Given the description of an element on the screen output the (x, y) to click on. 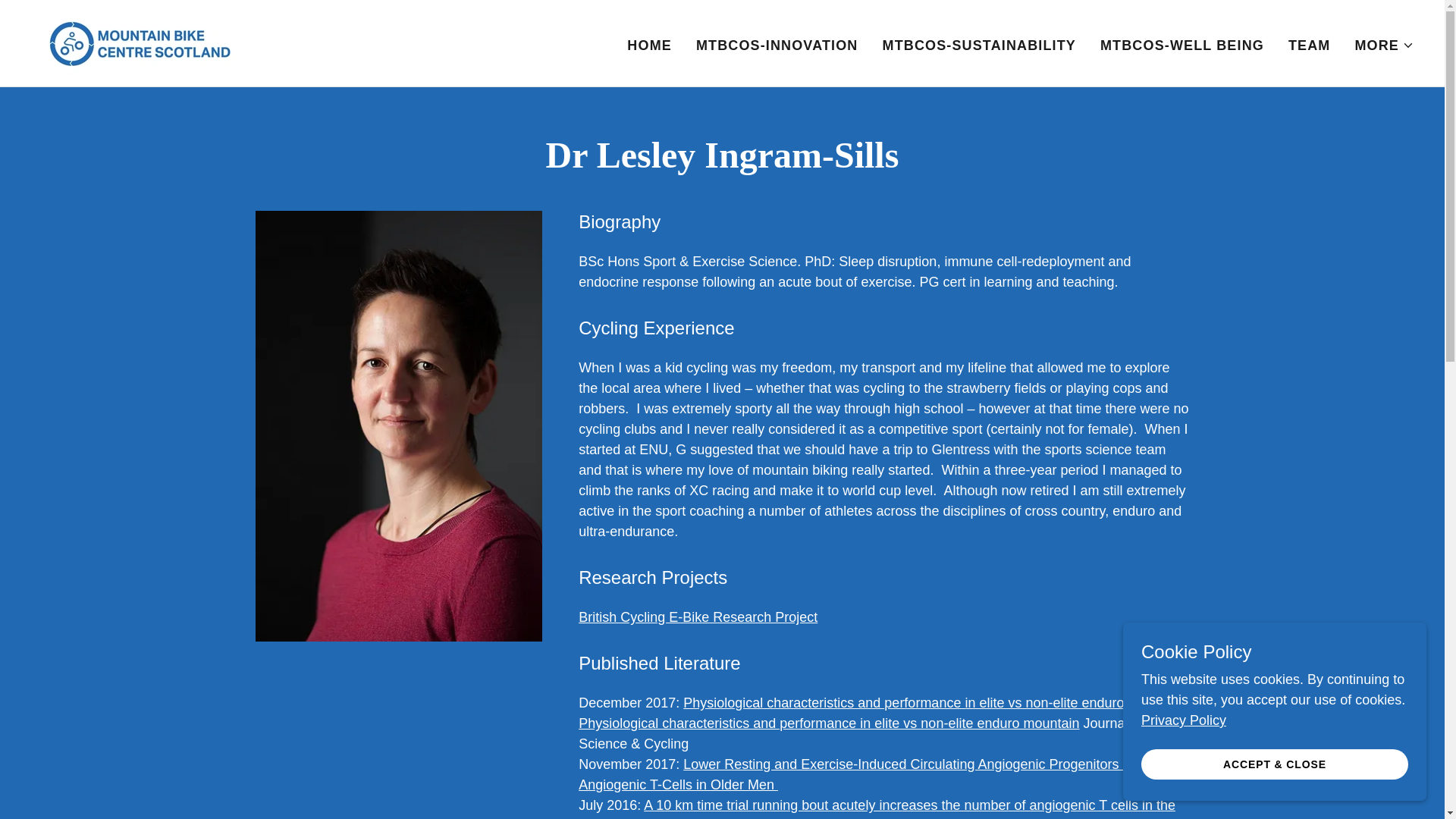
MTBCOS-INNOVATION (138, 42)
MTBCOS-SUSTAINABILITY (777, 44)
MTBCOS-WELL BEING (978, 44)
MORE (1182, 44)
TEAM (1383, 45)
HOME (1309, 44)
